Given the description of an element on the screen output the (x, y) to click on. 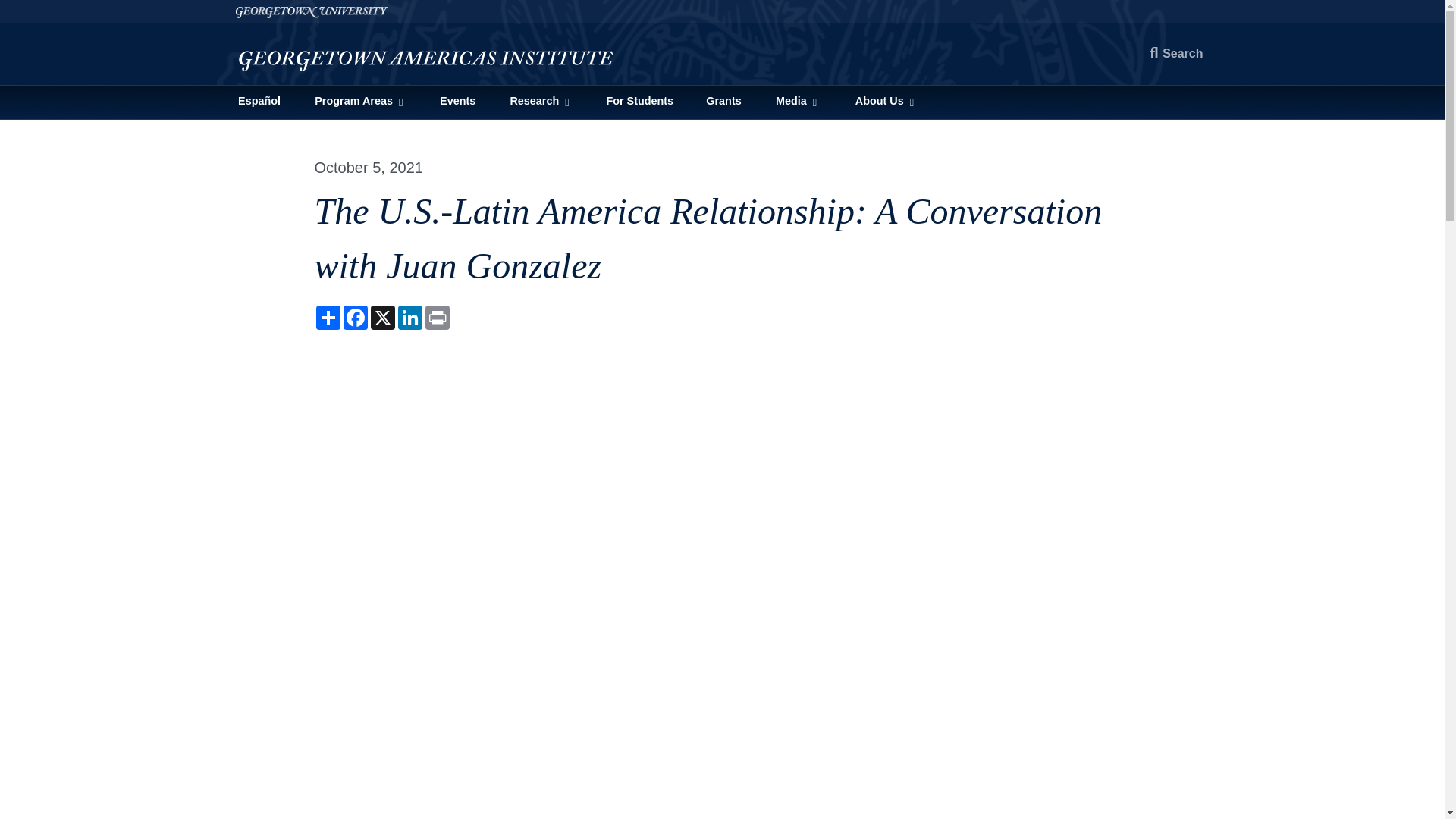
Research (540, 101)
Print (436, 317)
Georgetown Americas Institute (425, 54)
About Us (884, 101)
LinkedIn (409, 317)
Facebook (354, 317)
Share (327, 317)
Search (1177, 53)
Georgetown University (721, 11)
Search this site (1177, 53)
Grants (723, 101)
Events (456, 101)
Media (797, 101)
X (382, 317)
